Given the description of an element on the screen output the (x, y) to click on. 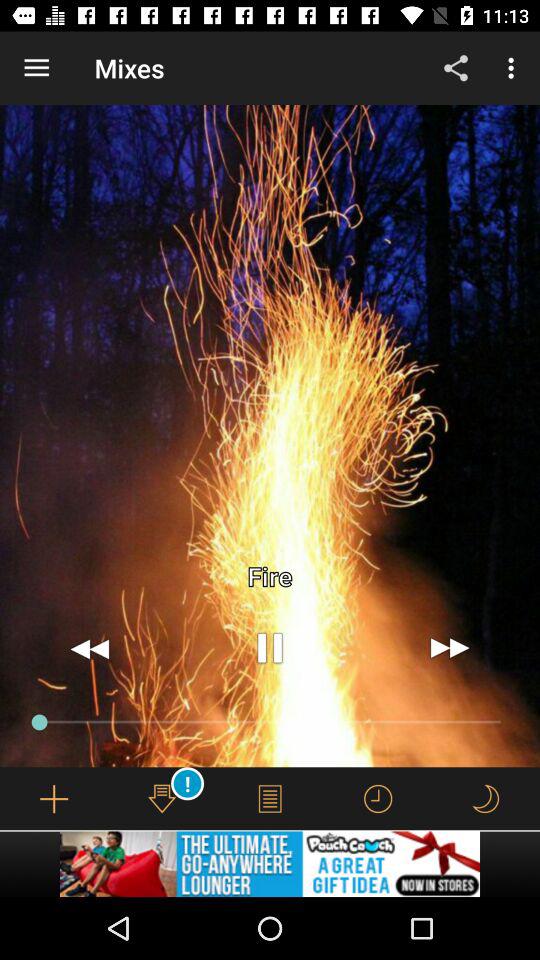
choose icon next to mixes icon (455, 67)
